Given the description of an element on the screen output the (x, y) to click on. 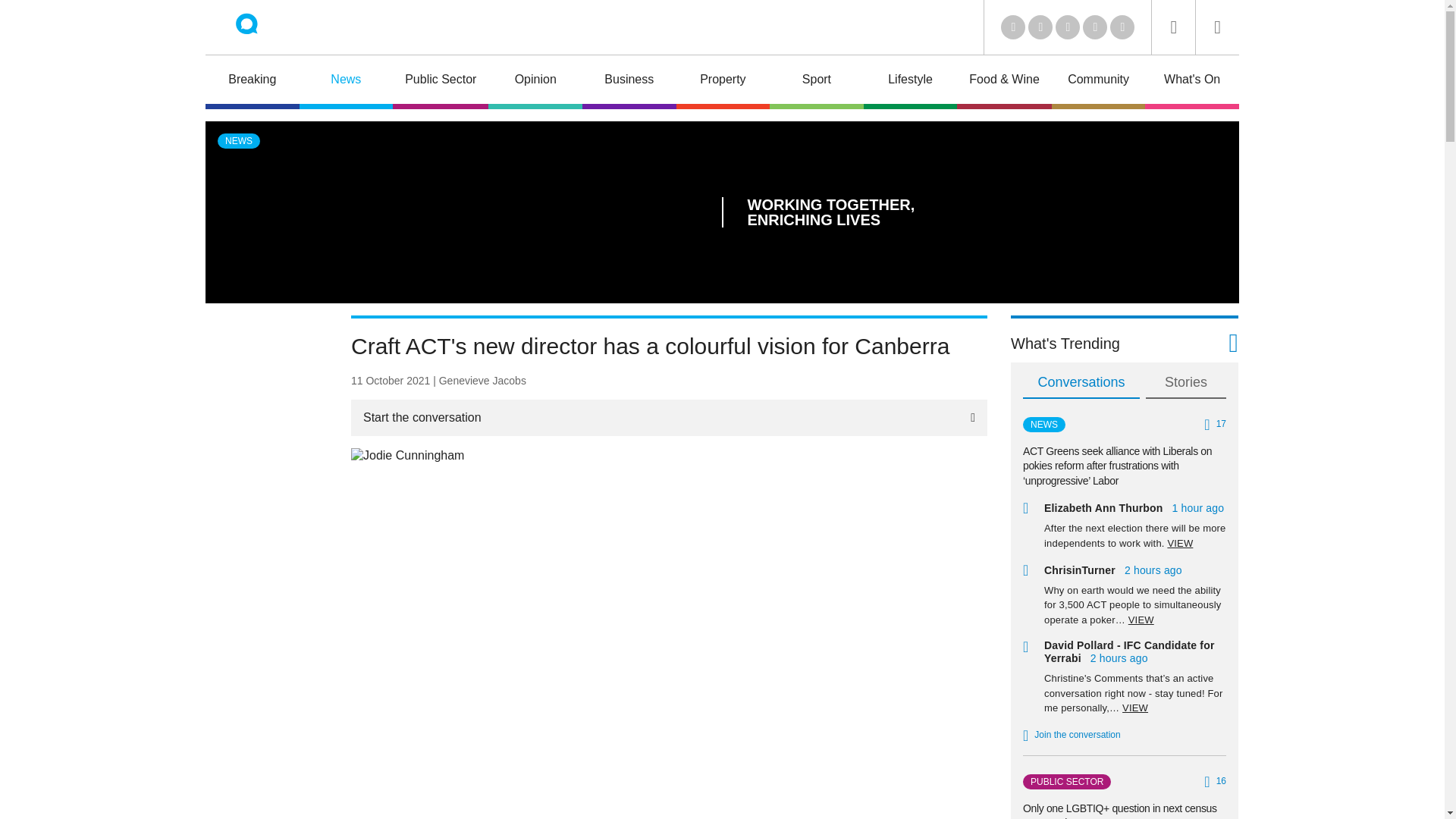
Facebook (1094, 27)
LinkedIn (1013, 27)
Instagram (1121, 27)
Twitter (1039, 27)
News (346, 81)
Youtube (1067, 27)
Riotact Home (267, 26)
Breaking (252, 81)
